Given the description of an element on the screen output the (x, y) to click on. 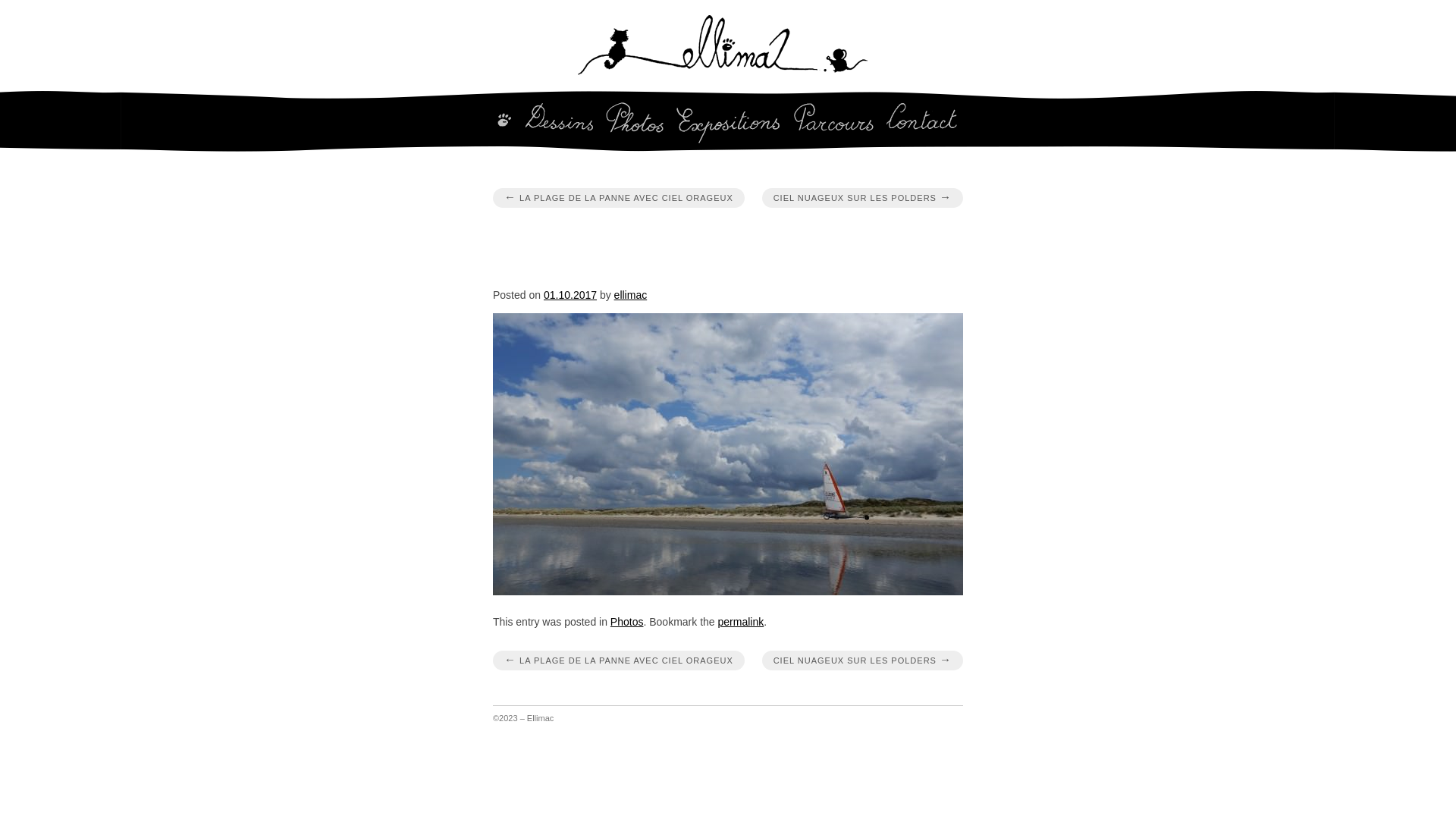
Parcours Element type: text (833, 123)
Photos Element type: text (634, 123)
permalink Element type: text (740, 621)
01.10.2017 Element type: text (569, 294)
Contact Element type: text (925, 123)
Dessins Element type: text (559, 123)
Photos Element type: text (626, 621)
Home Element type: text (501, 123)
DSCN8285 Element type: hover (727, 454)
ellimac Element type: text (630, 294)
Expositions Element type: text (728, 123)
